Given the description of an element on the screen output the (x, y) to click on. 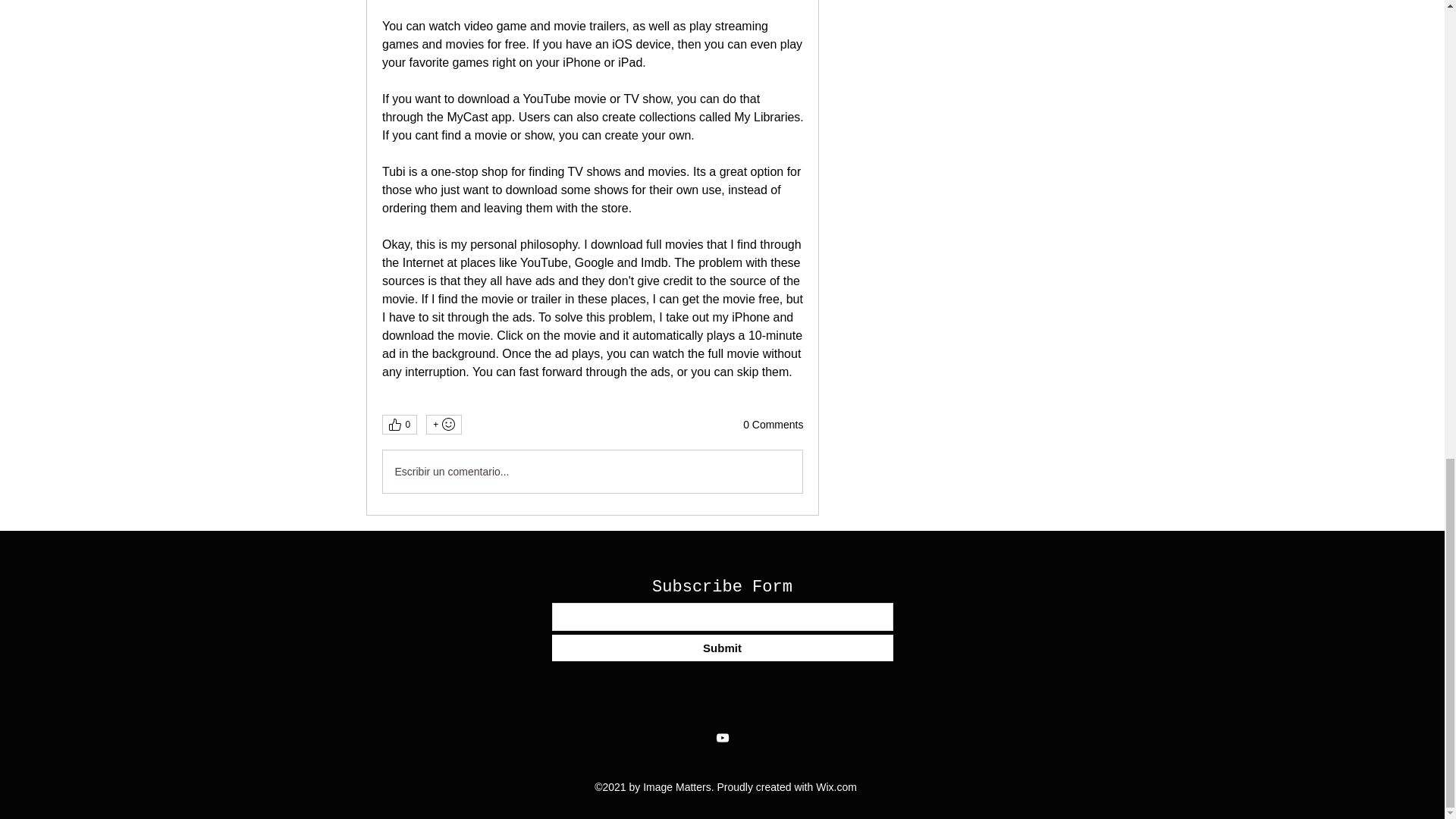
Submit (722, 647)
0 Comments (772, 425)
Escribir un comentario... (591, 471)
